Given the description of an element on the screen output the (x, y) to click on. 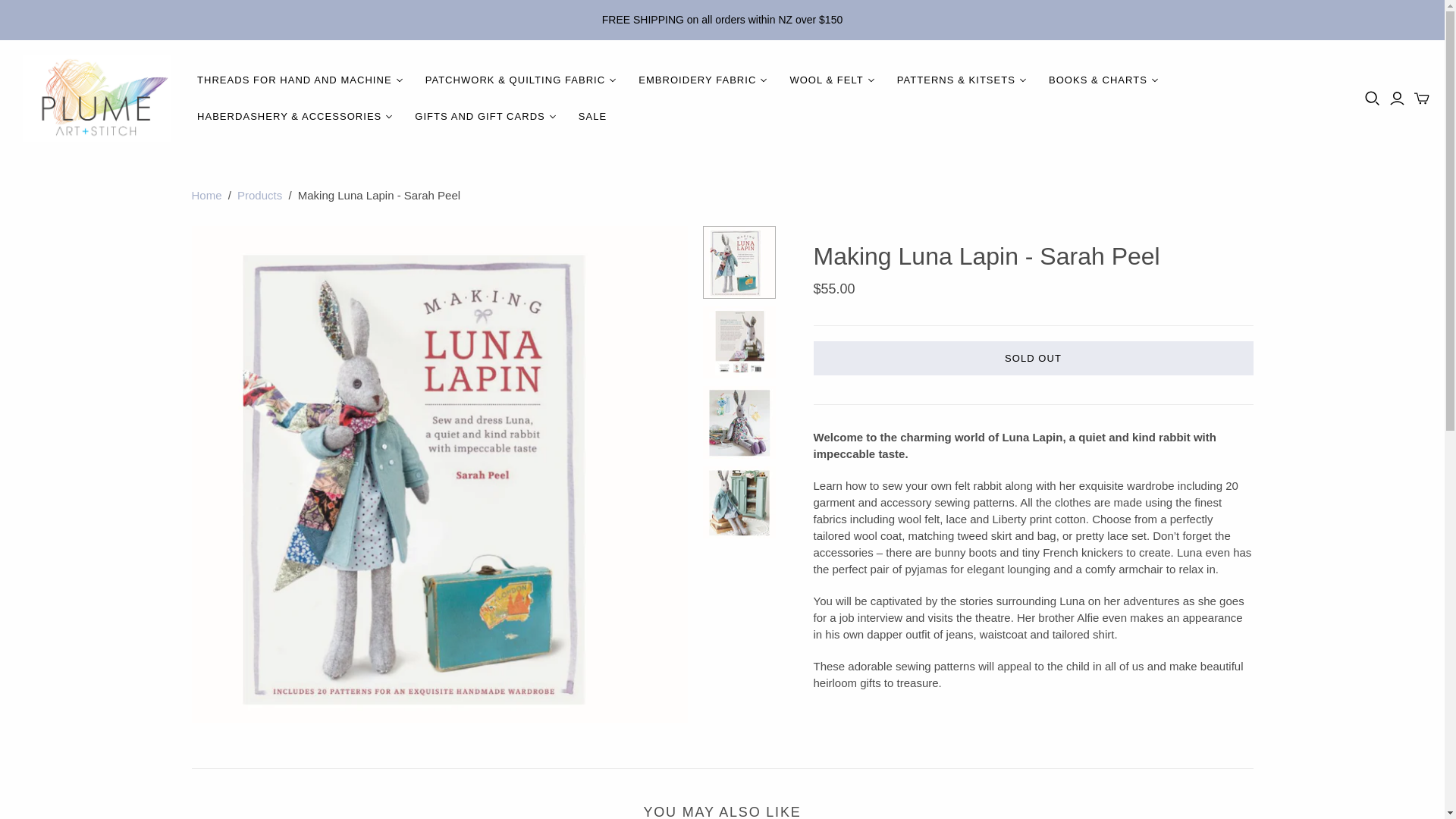
THREADS FOR HAND AND MACHINE (299, 80)
EMBROIDERY FABRIC (702, 80)
